Given the description of an element on the screen output the (x, y) to click on. 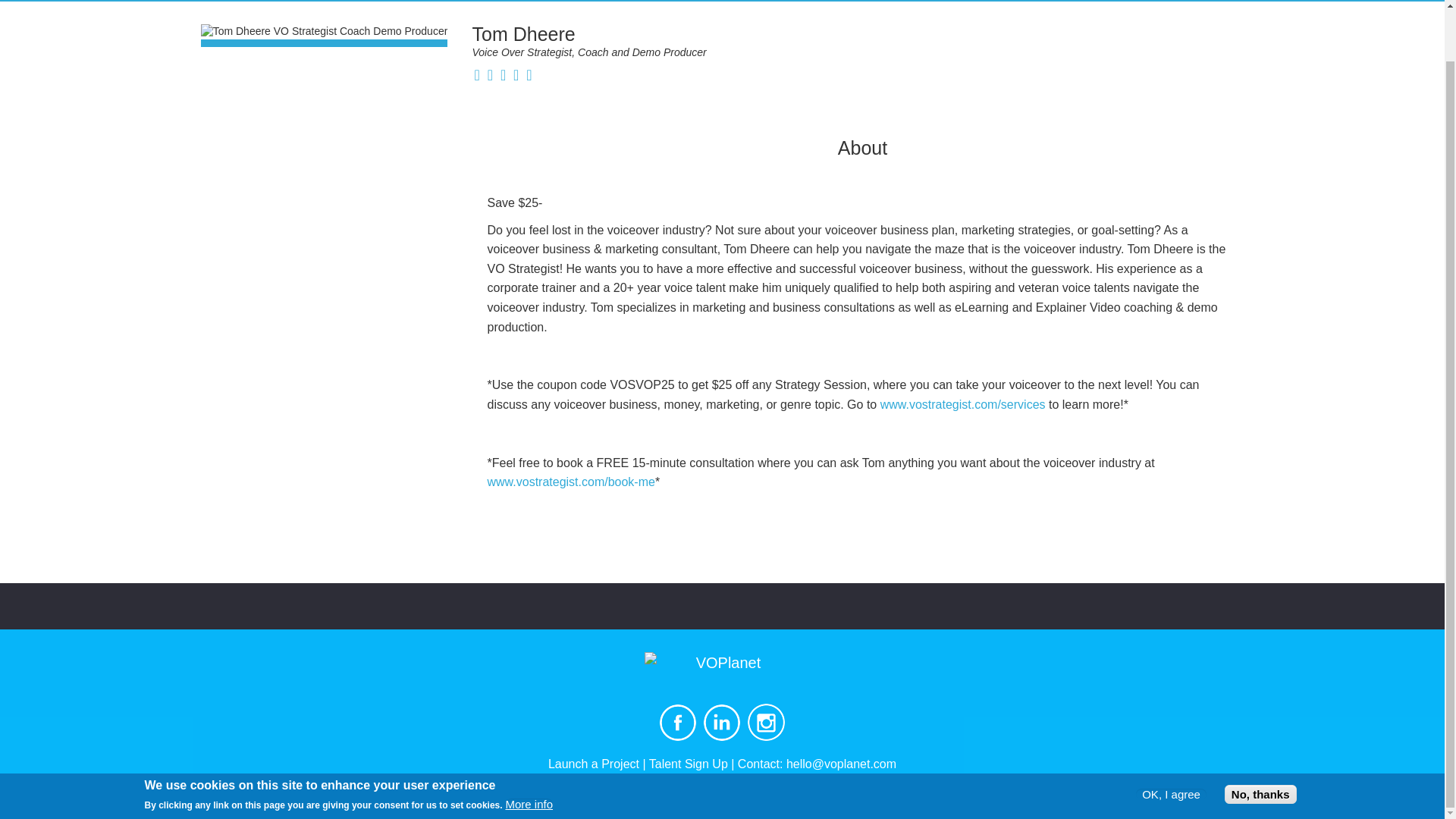
No, thanks (1260, 739)
Talent Sign Up (688, 763)
OK, I agree (1171, 739)
Launch a Project (593, 763)
privacy policy (376, 795)
More info (529, 749)
